Given the description of an element on the screen output the (x, y) to click on. 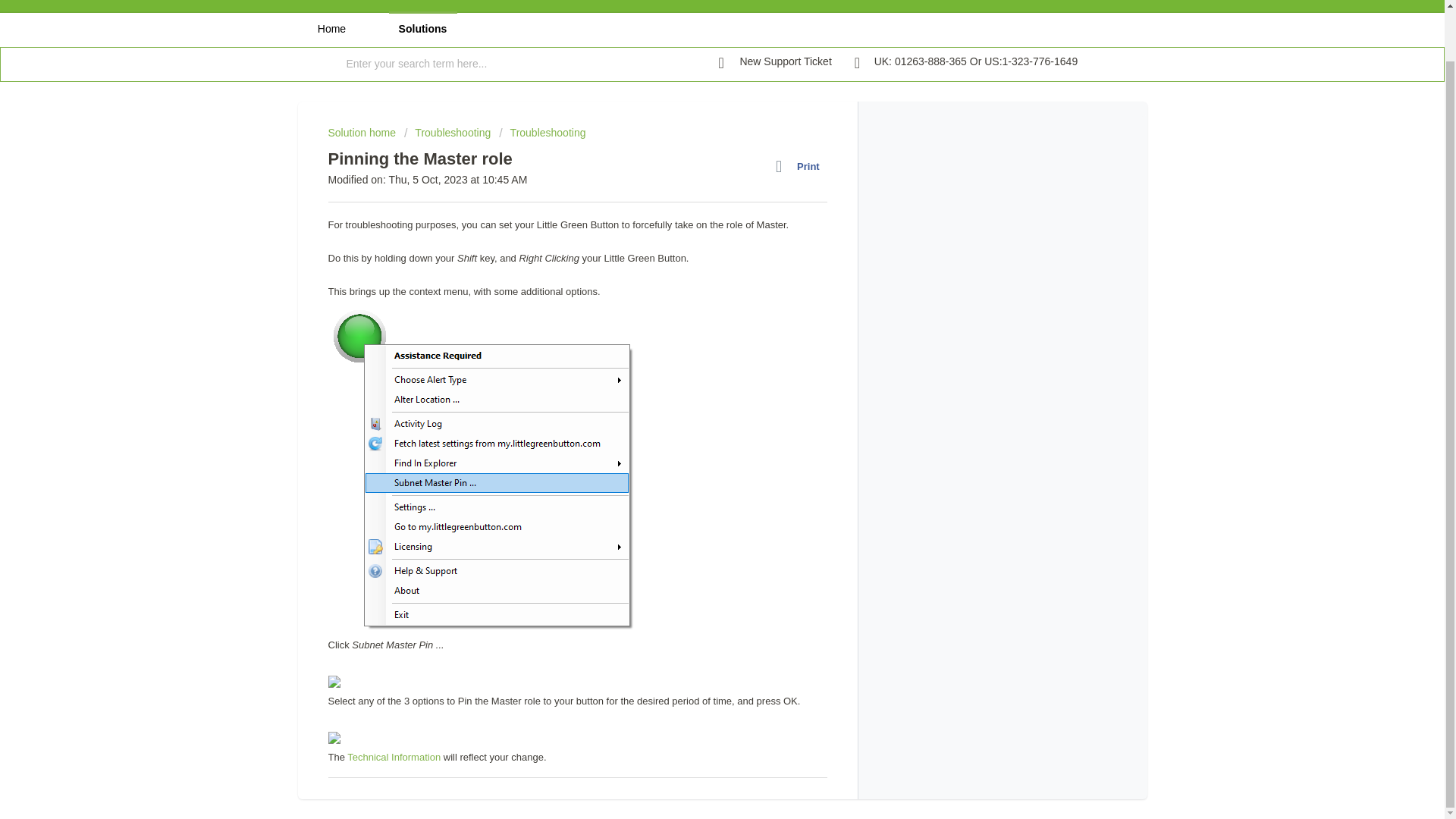
Technical Information (394, 756)
Print this Article (801, 166)
Print (801, 166)
New Support Ticket (775, 62)
Home (331, 28)
Solutions (422, 28)
Troubleshooting (447, 132)
Troubleshooting (542, 132)
UK: 01263-888-365 Or US:1-323-776-1649 (965, 62)
Solution home (362, 132)
New support ticket (775, 62)
